Given the description of an element on the screen output the (x, y) to click on. 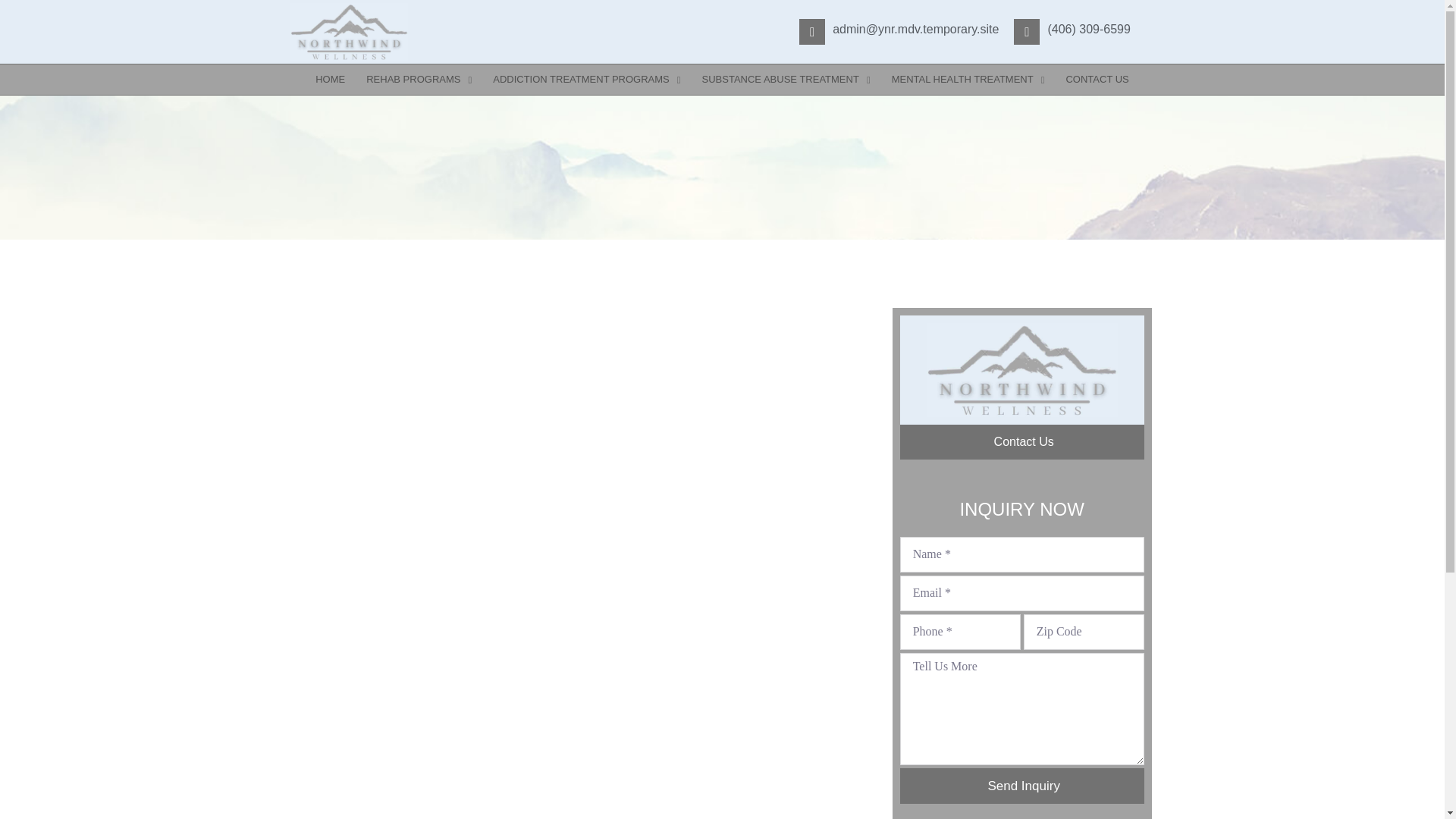
MENTAL HEALTH TREATMENT (967, 79)
ADDICTION TREATMENT PROGRAMS (585, 79)
SUBSTANCE ABUSE TREATMENT (785, 79)
CONTACT US (1096, 79)
HOME (329, 79)
REHAB PROGRAMS (418, 79)
